Given the description of an element on the screen output the (x, y) to click on. 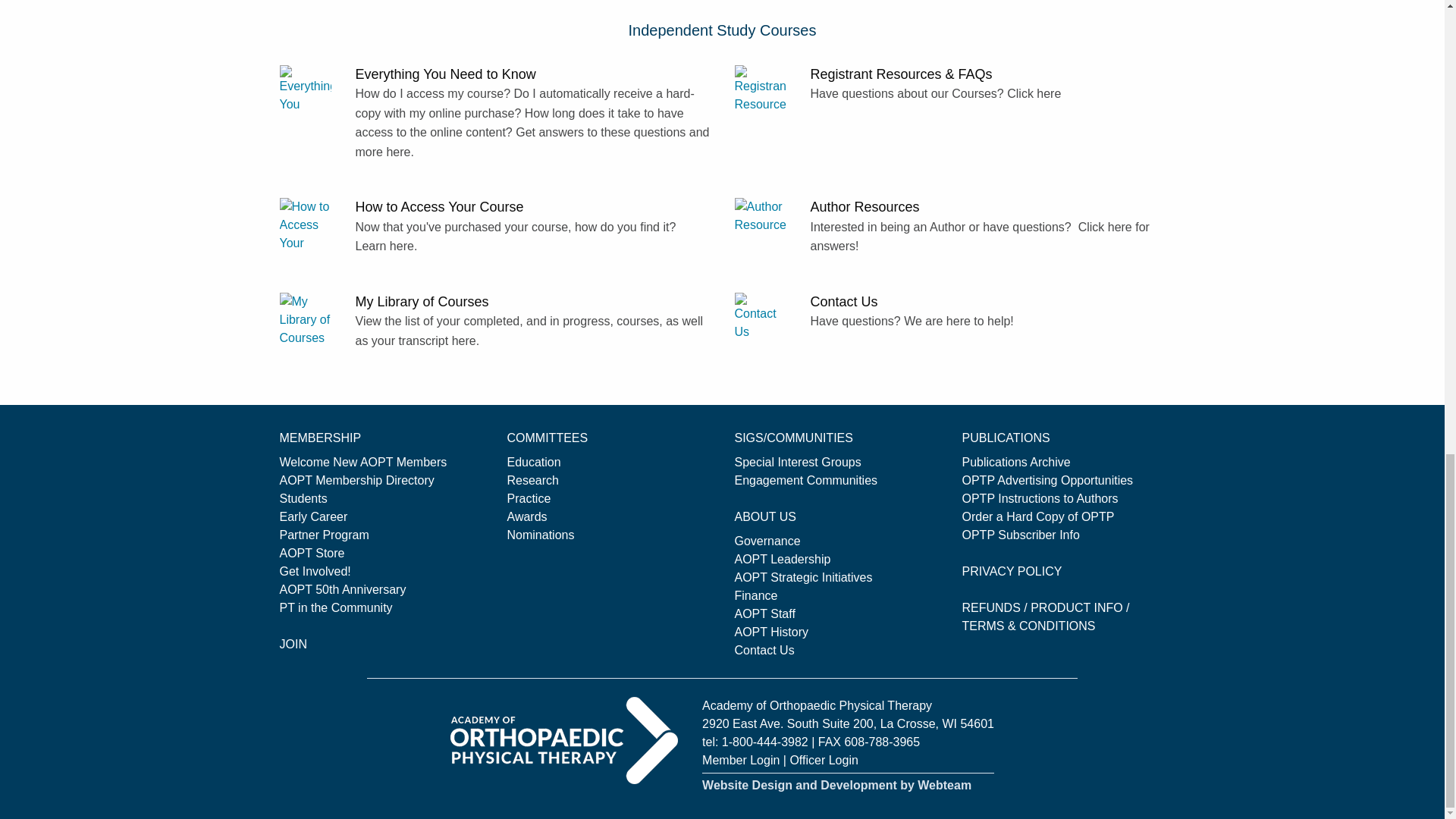
Everything You Need to Know (317, 91)
How to Access Your Course (317, 223)
Contact Us (771, 317)
My Library of Courses (317, 317)
Orthopt (563, 739)
Author Resources (771, 223)
